Given the description of an element on the screen output the (x, y) to click on. 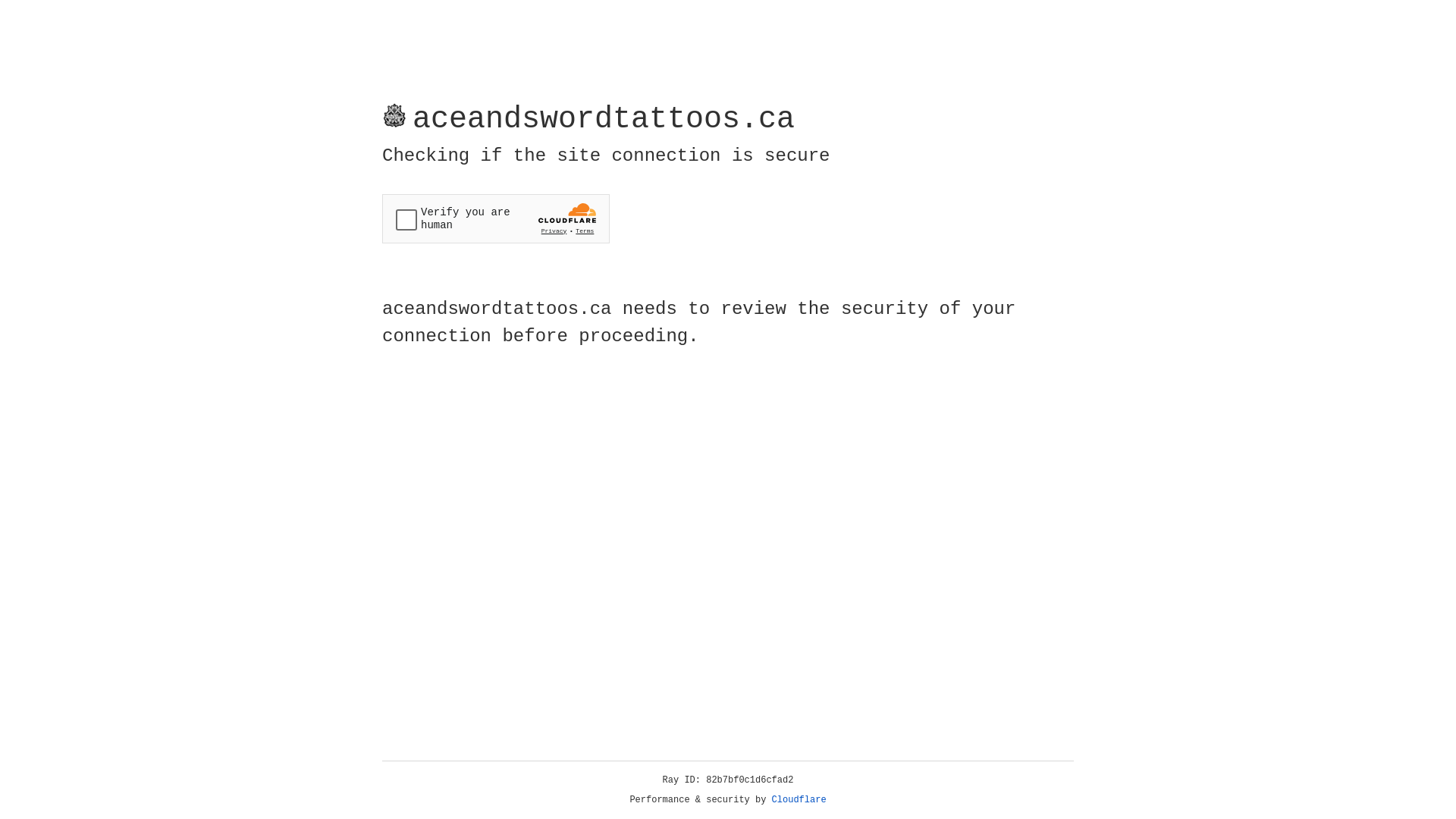
Cloudflare Element type: text (798, 799)
Widget containing a Cloudflare security challenge Element type: hover (495, 218)
